Given the description of an element on the screen output the (x, y) to click on. 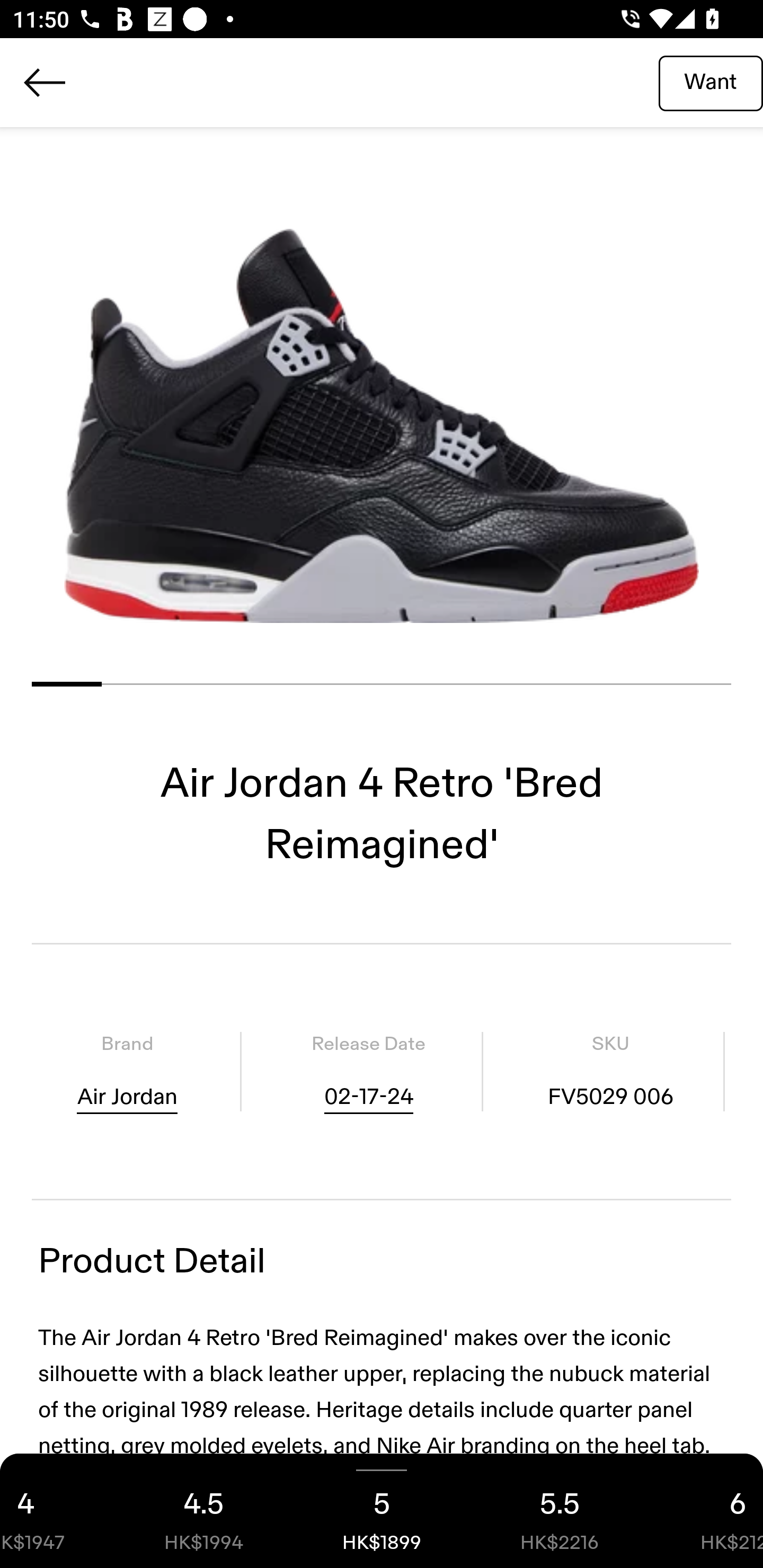
Want (710, 82)
Brand Air Jordan (126, 1070)
Release Date 02-17-24 (368, 1070)
SKU FV5029 006 (609, 1070)
4 HK$1947 (57, 1510)
4.5 HK$1994 (203, 1510)
5 HK$1899 (381, 1510)
5.5 HK$2216 (559, 1510)
6 HK$2121 (705, 1510)
